Given the description of an element on the screen output the (x, y) to click on. 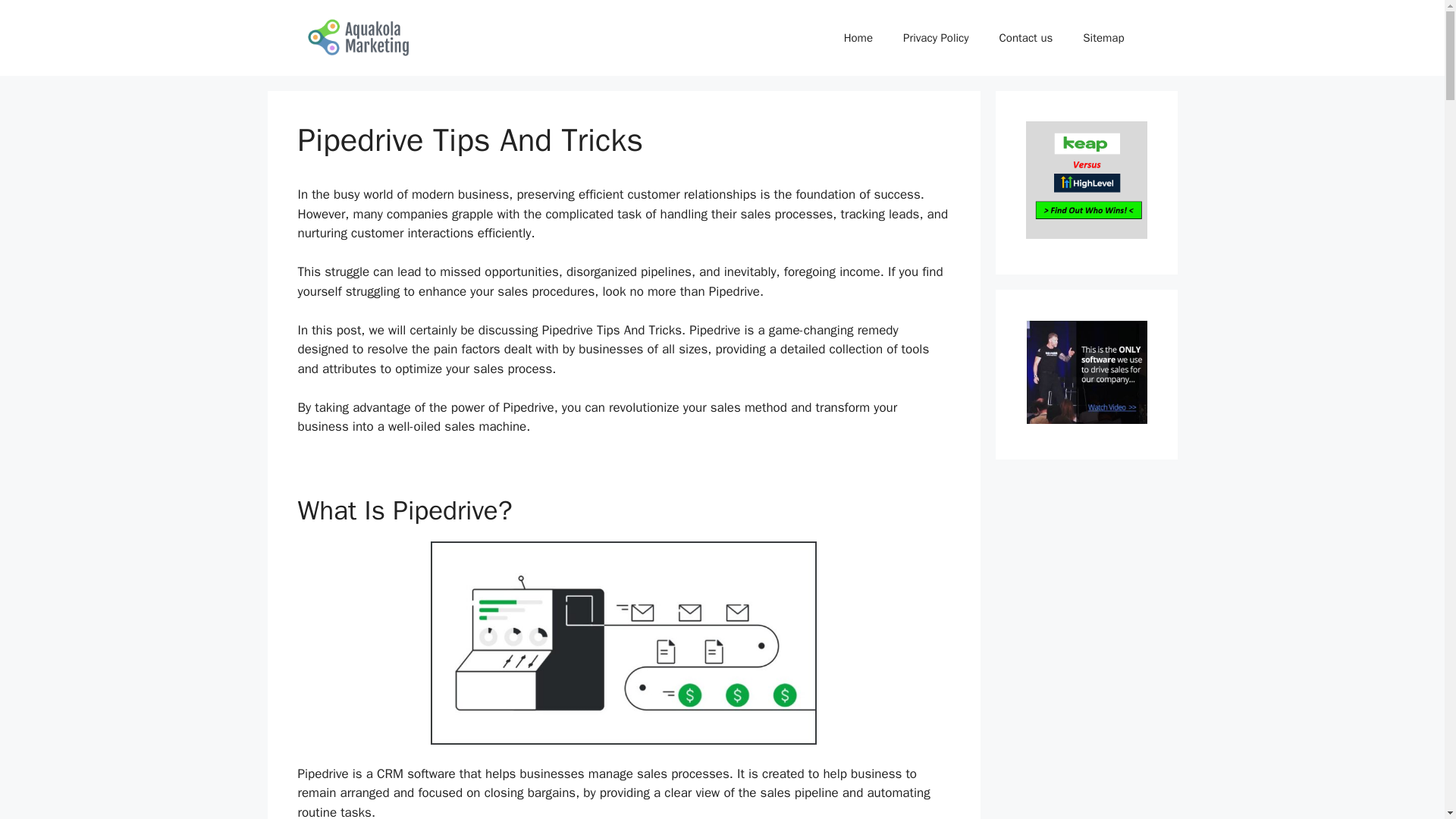
Contact us (1026, 37)
Home (858, 37)
Sitemap (1102, 37)
Privacy Policy (936, 37)
